Given the description of an element on the screen output the (x, y) to click on. 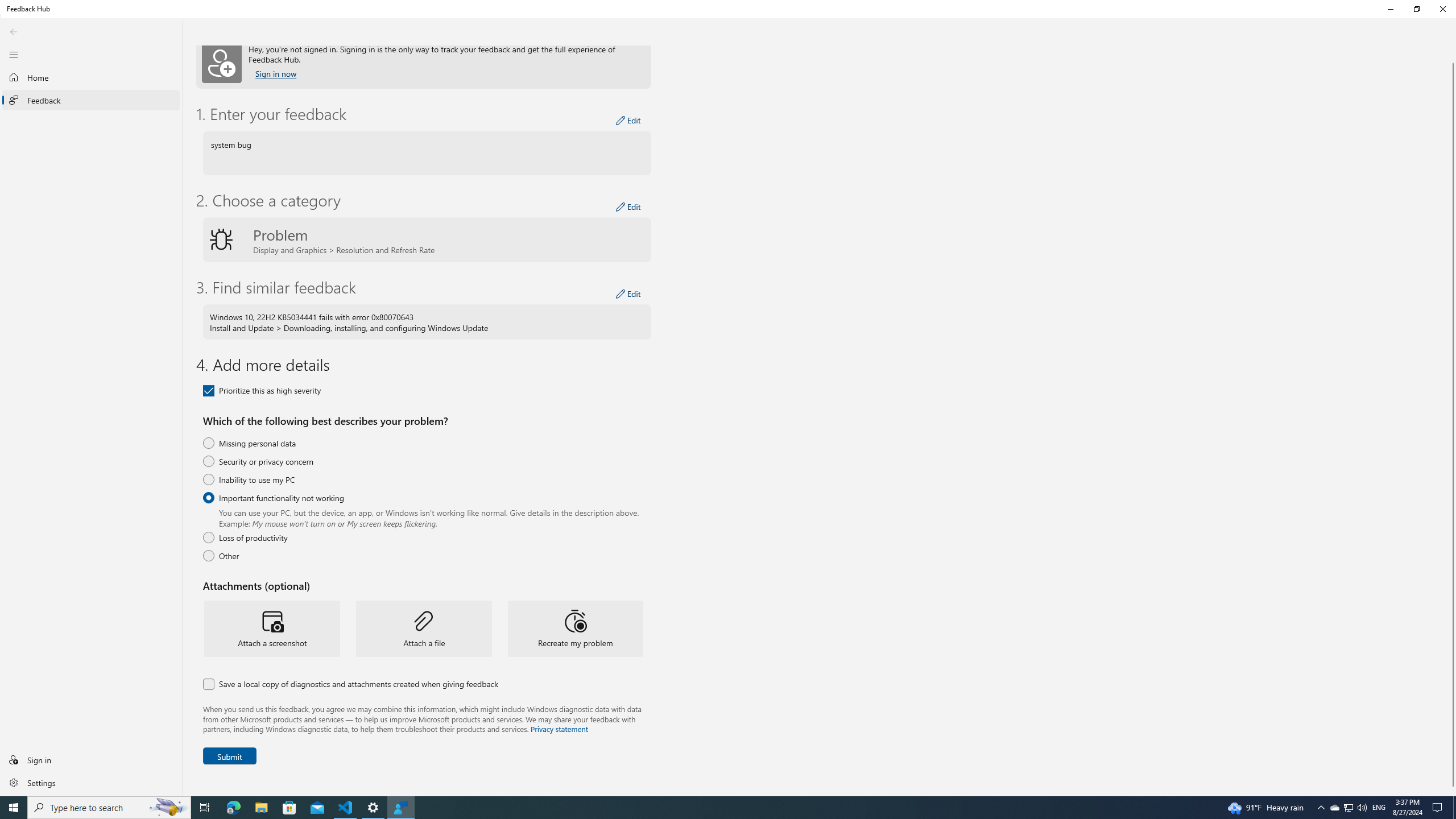
File Explorer (261, 807)
Feedback Hub - 1 running window (400, 807)
Sign in (90, 759)
Edit your feedback details (627, 120)
Submit Feedback (229, 755)
Edit feedback type and category (627, 207)
Vertical (1452, 420)
Home (90, 77)
User Promoted Notification Area (1347, 807)
Edit similar feedback (627, 294)
Notification Chevron (1320, 807)
Settings (90, 782)
Tray Input Indicator - English (United States) (1378, 807)
Show desktop (1454, 807)
